Given the description of an element on the screen output the (x, y) to click on. 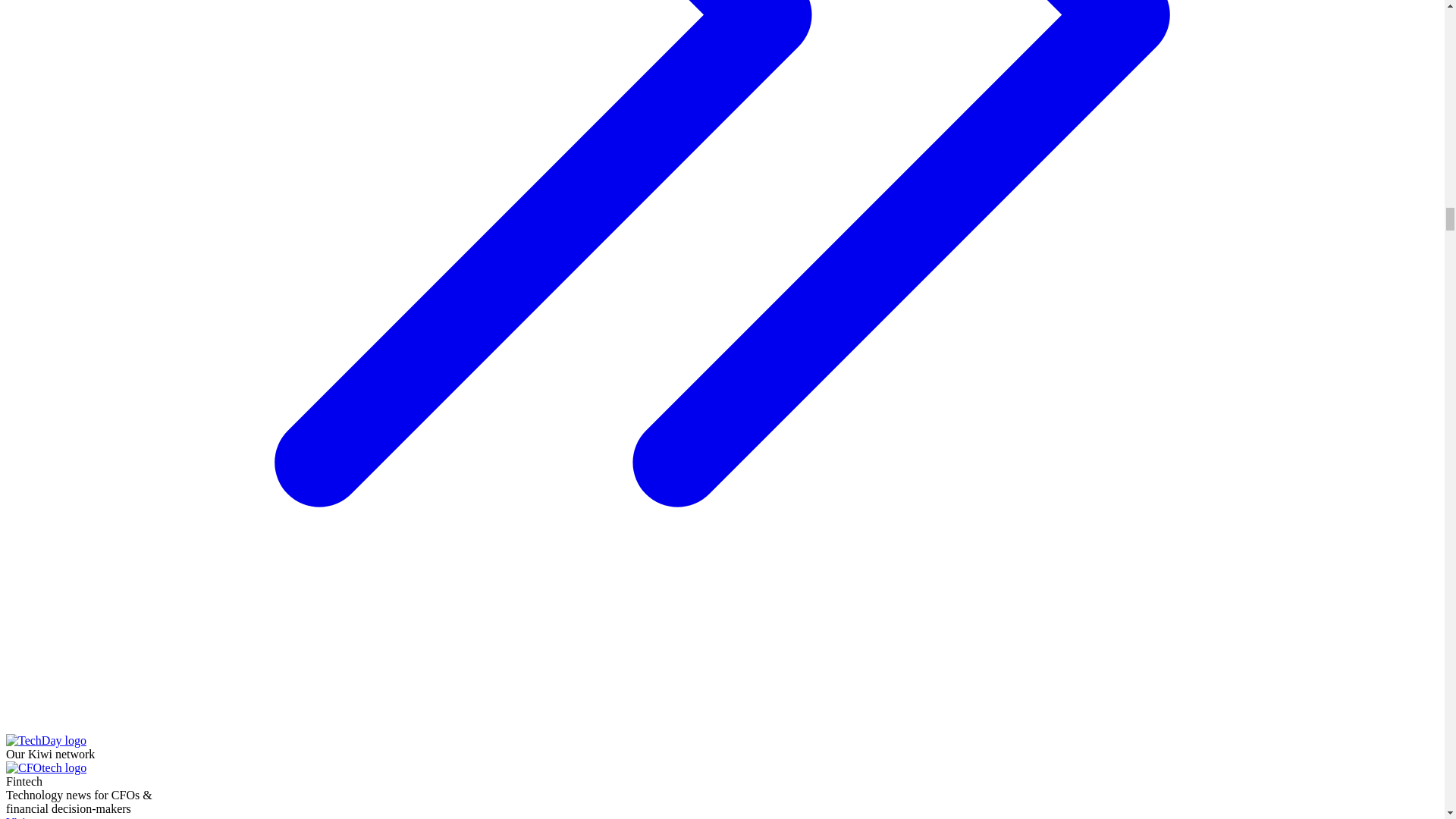
Visit (85, 817)
